Given the description of an element on the screen output the (x, y) to click on. 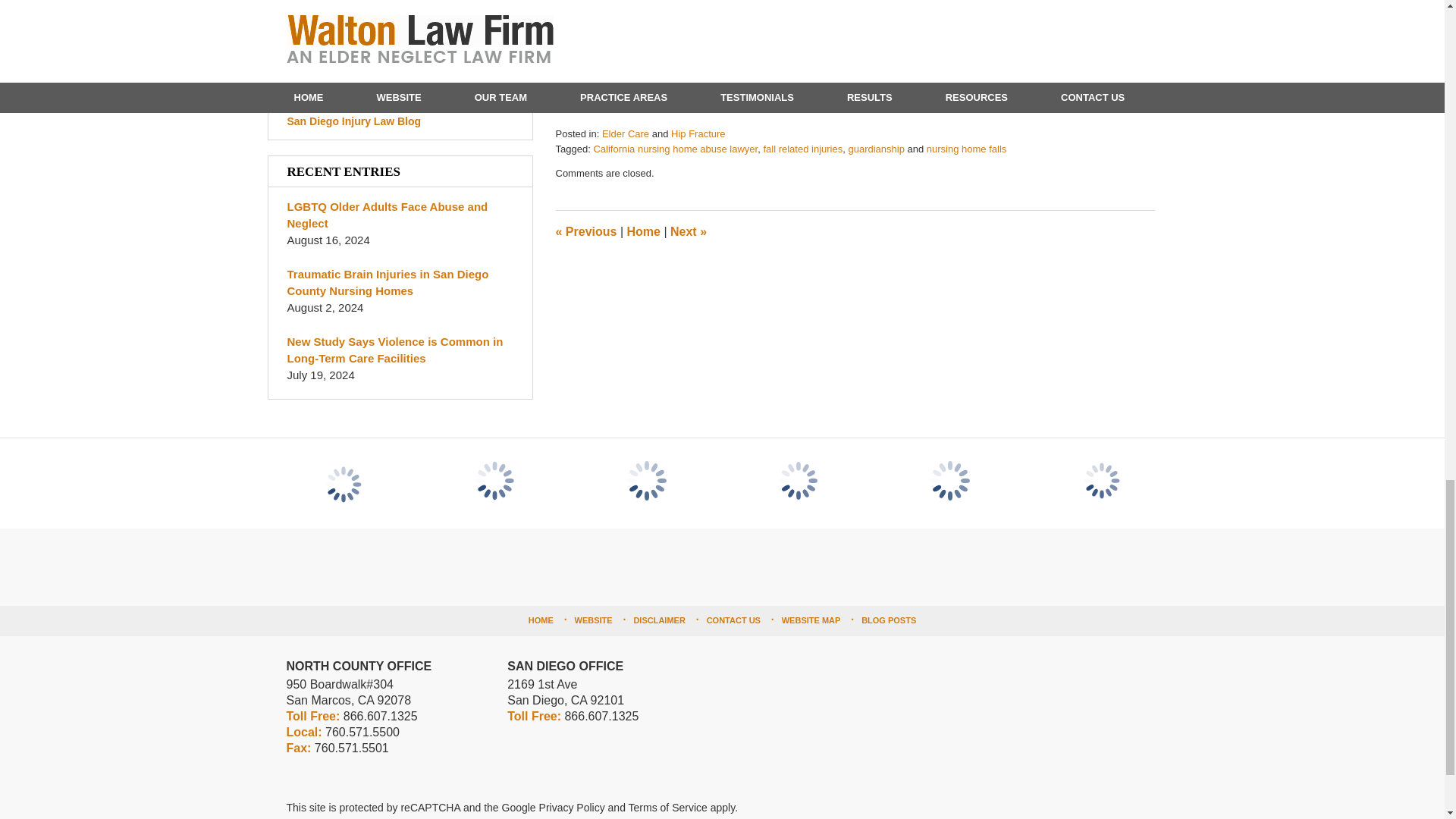
California nursing home abuse lawyer (674, 148)
View all posts tagged with guardianship (875, 148)
How Can I Identify a Safe Nursing Home in Orange County? (716, 104)
View all posts in Hip Fracture (698, 133)
Home (642, 231)
fall related injuries (802, 148)
View all posts tagged with fall related injuries (802, 148)
guardianship (875, 148)
